Given the description of an element on the screen output the (x, y) to click on. 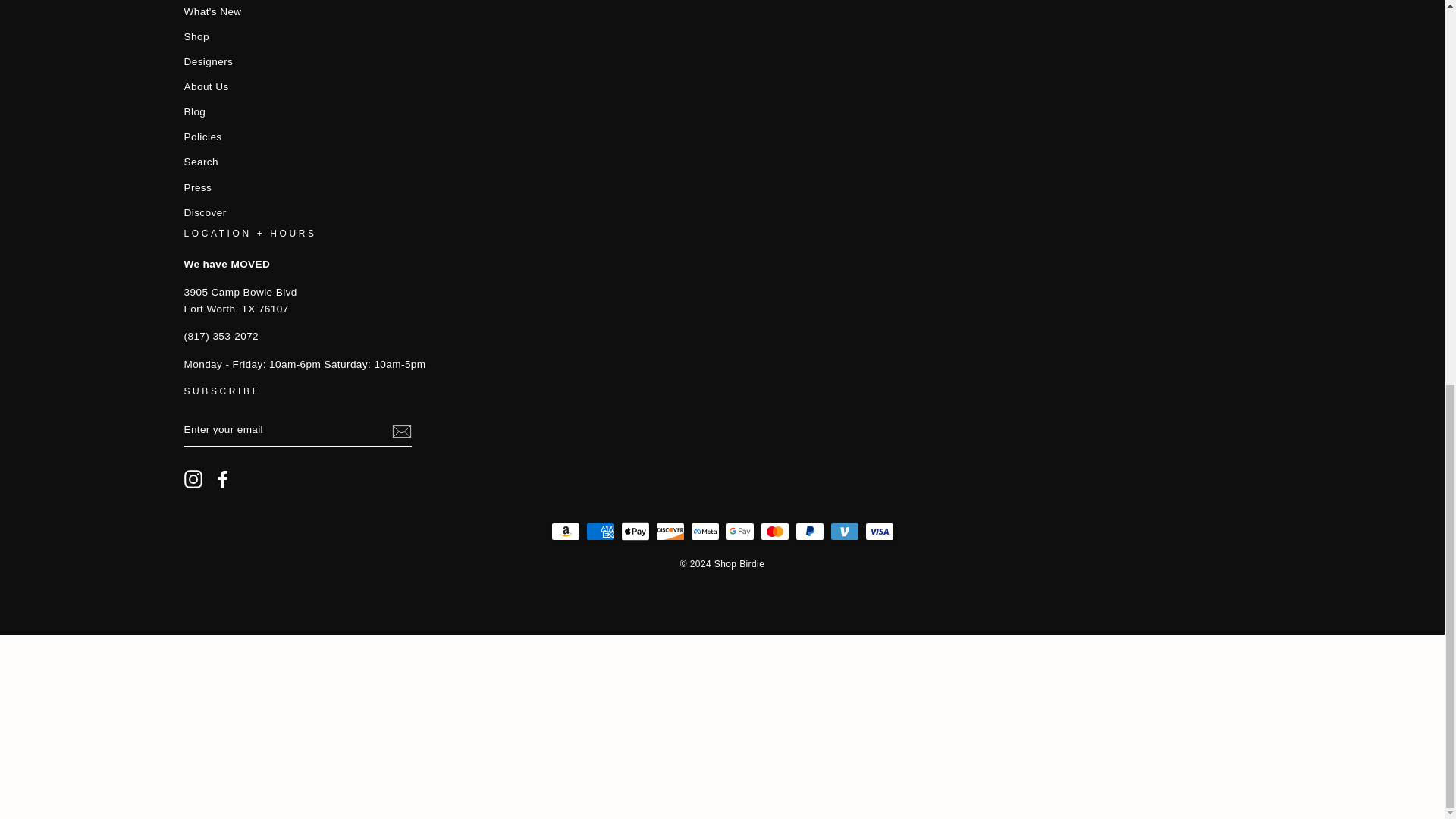
Google Pay (739, 531)
American Express (599, 531)
Mastercard (774, 531)
Venmo (844, 531)
Apple Pay (634, 531)
Visa (878, 531)
Discover (669, 531)
Meta Pay (704, 531)
Shop Birdie on Facebook (222, 479)
Shop Birdie on Instagram (192, 479)
Amazon (564, 531)
PayPal (809, 531)
